Given the description of an element on the screen output the (x, y) to click on. 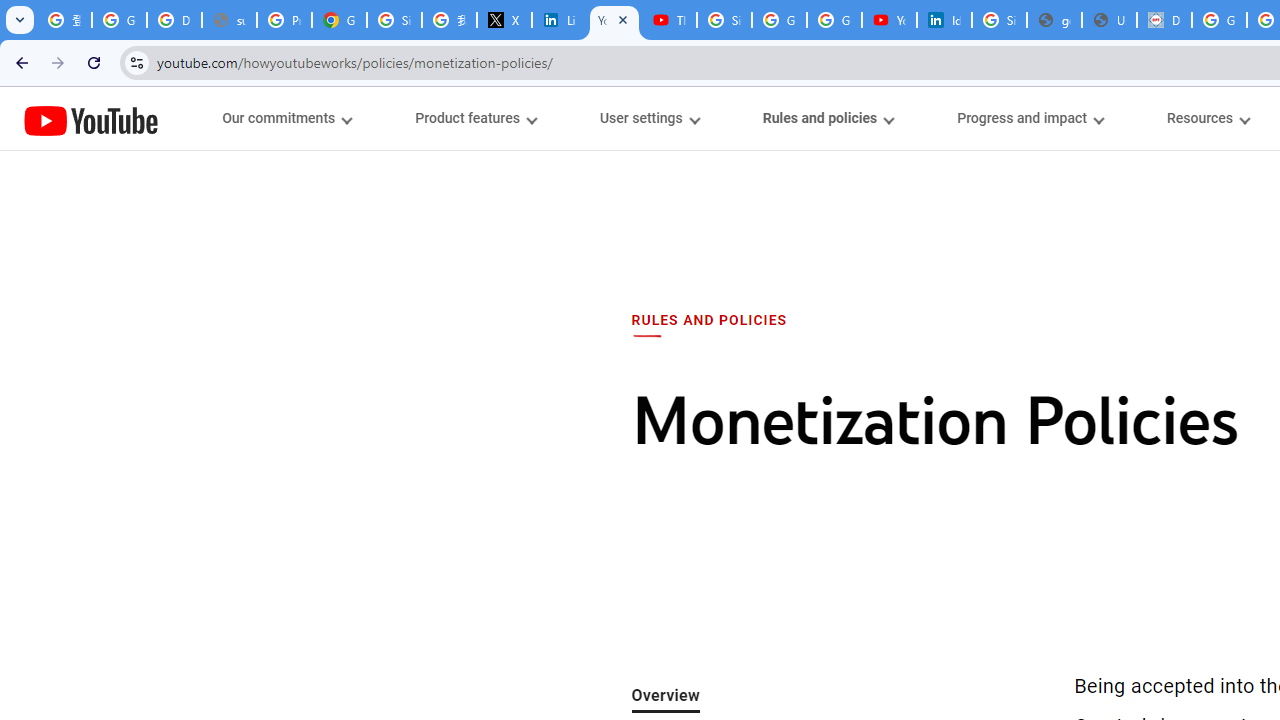
YouTube Content Monetization Policies - How YouTube Works (614, 20)
Resources menupopup (1208, 118)
LinkedIn Privacy Policy (559, 20)
Sign in - Google Accounts (394, 20)
Sign in - Google Accounts (724, 20)
JUMP TO CONTENT (209, 119)
support.google.com - Network error (229, 20)
